Given the description of an element on the screen output the (x, y) to click on. 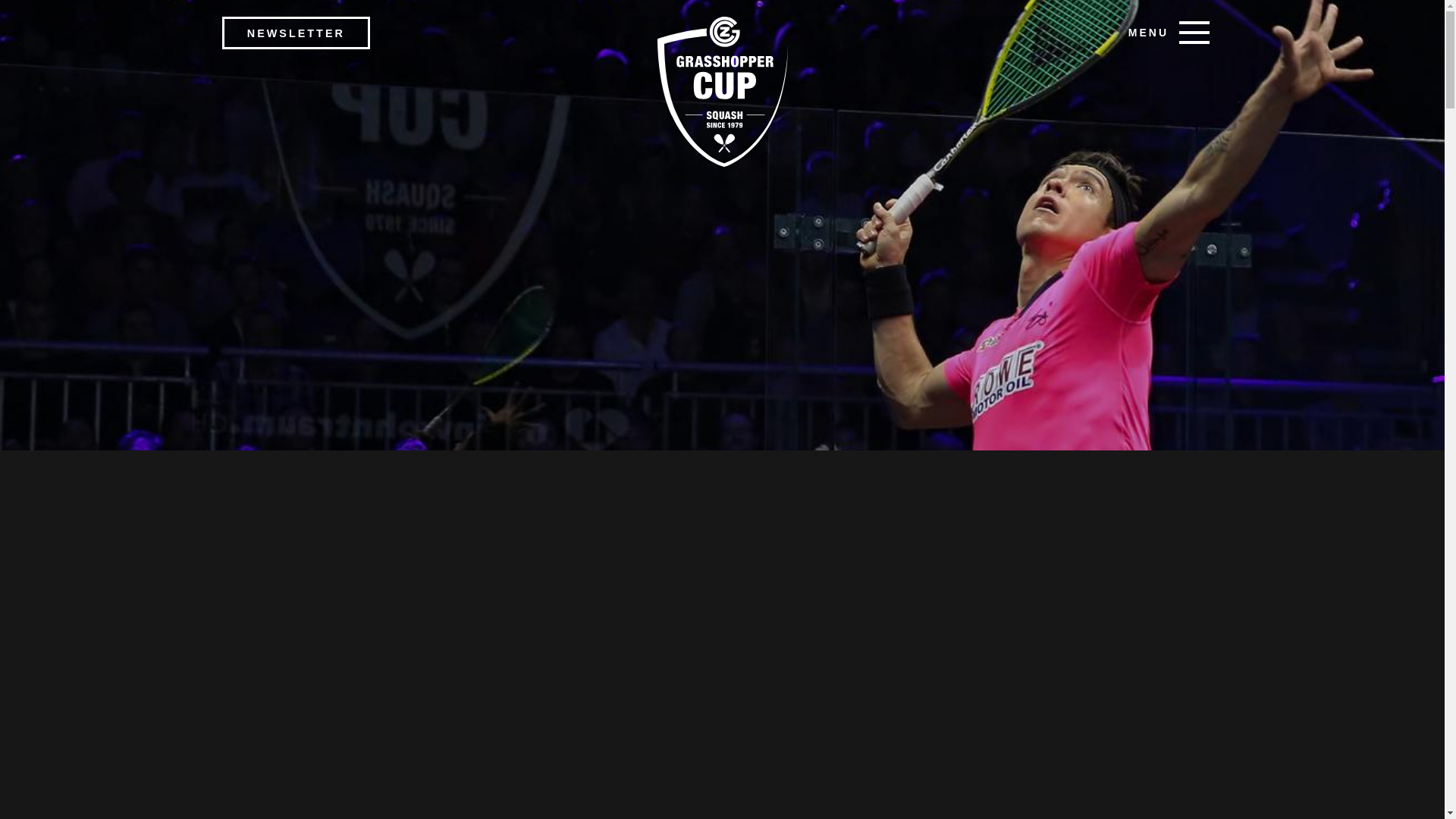
NEWSLETTER (295, 32)
MENU (1168, 30)
